Given the description of an element on the screen output the (x, y) to click on. 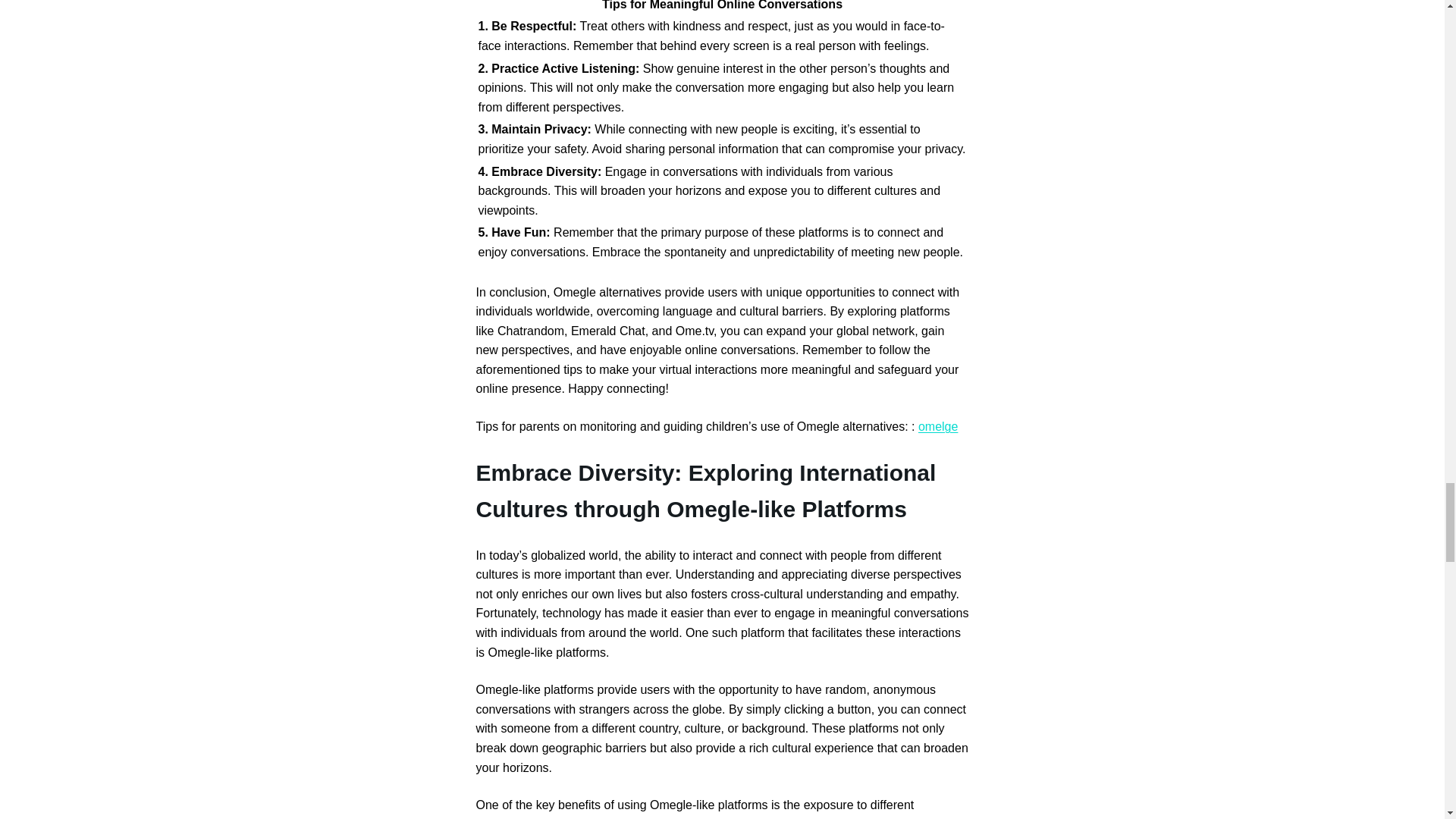
omelge (938, 426)
